Given the description of an element on the screen output the (x, y) to click on. 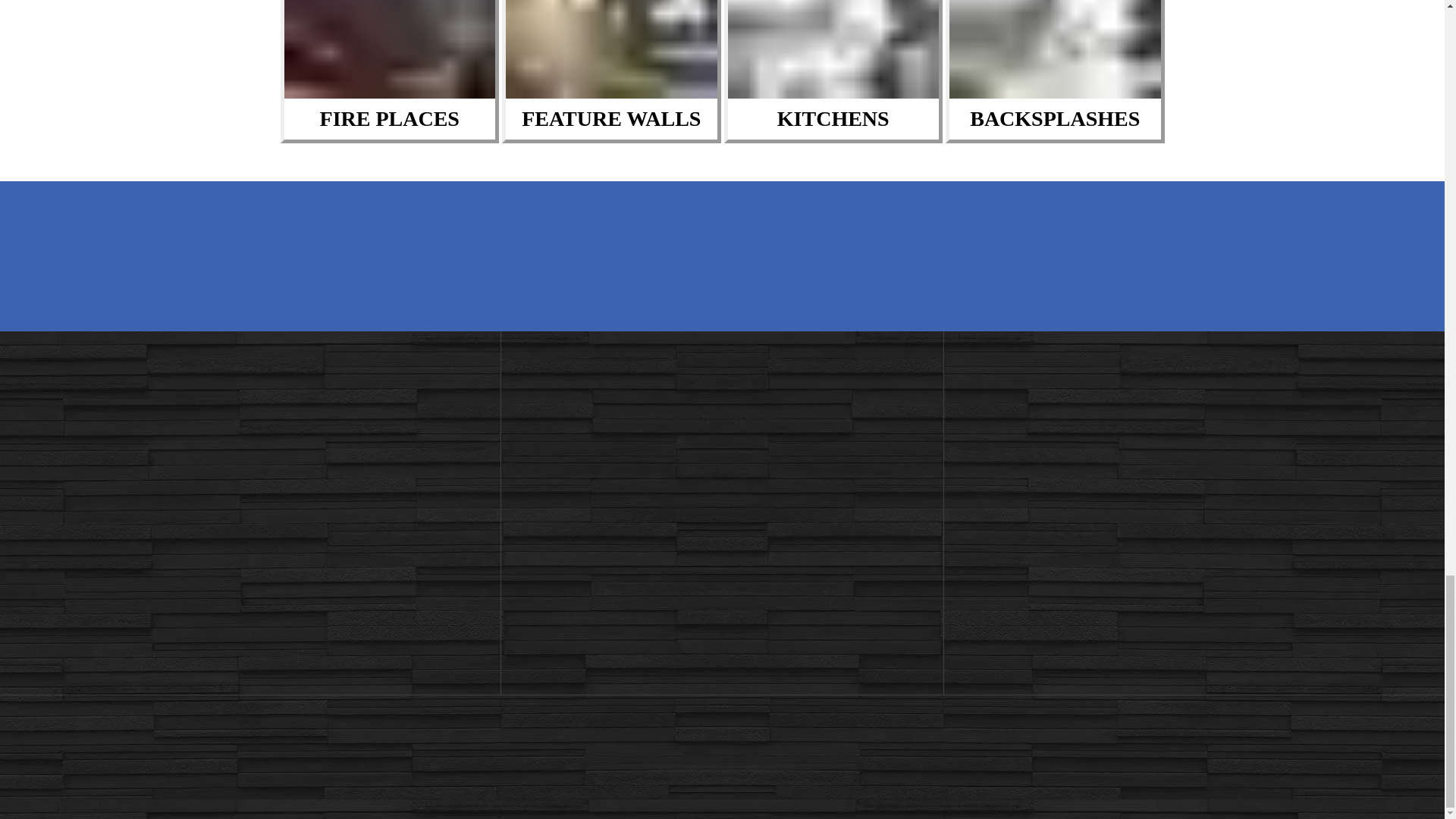
Staxstone Natural Stone Veneer - Gallery Feature Walls (611, 49)
Staxstone Natural Stone Veneer - Gallery Fireplaces (389, 49)
Staxstone Natural Stone Veneer - Gallery Backsplashes (1054, 49)
Staxstone Natural Stone Veneer - Gallery Kitchens (833, 49)
